Given the description of an element on the screen output the (x, y) to click on. 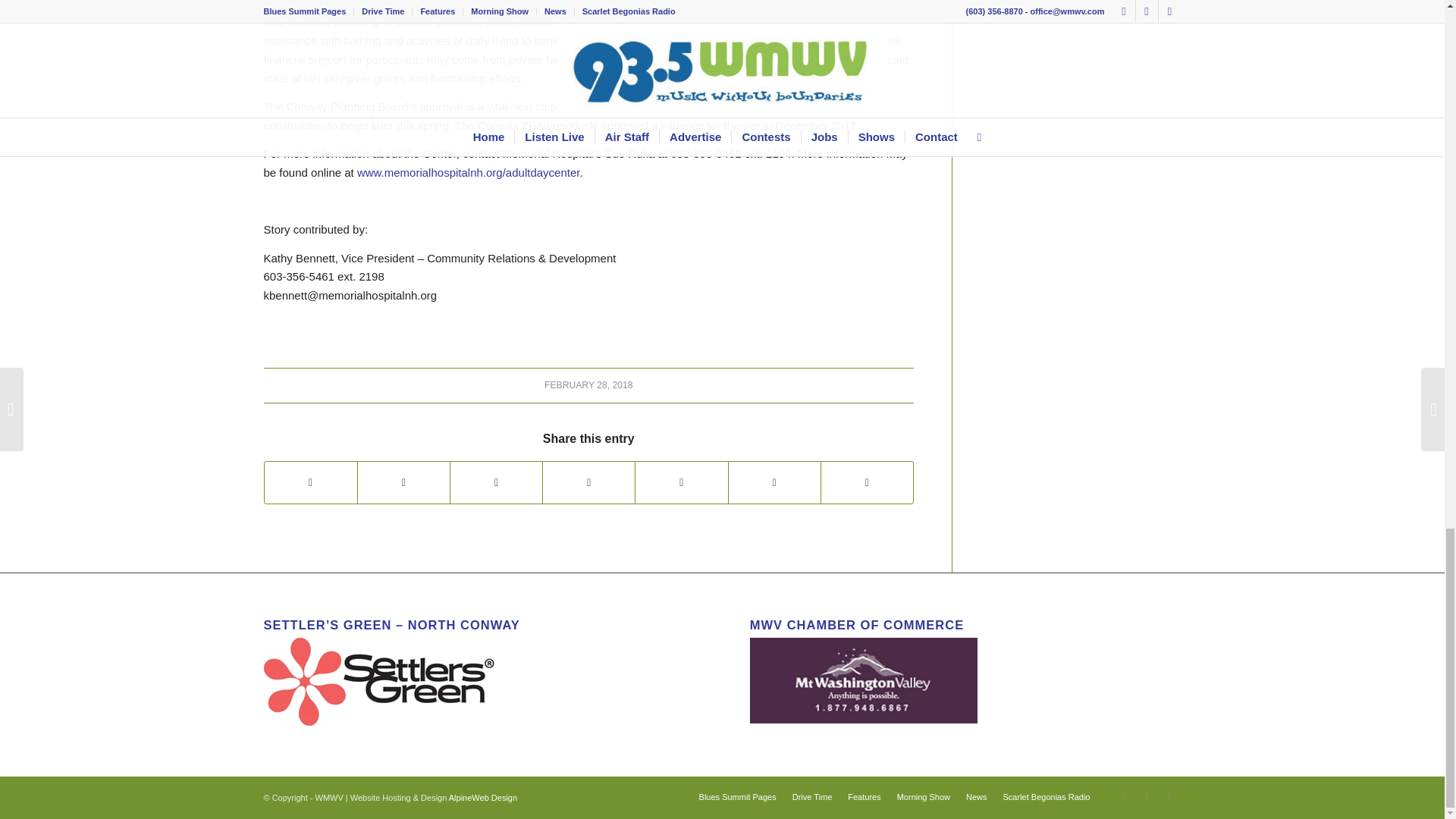
Facebook (1124, 795)
Rss (1169, 795)
Mail (1146, 795)
